Given the description of an element on the screen output the (x, y) to click on. 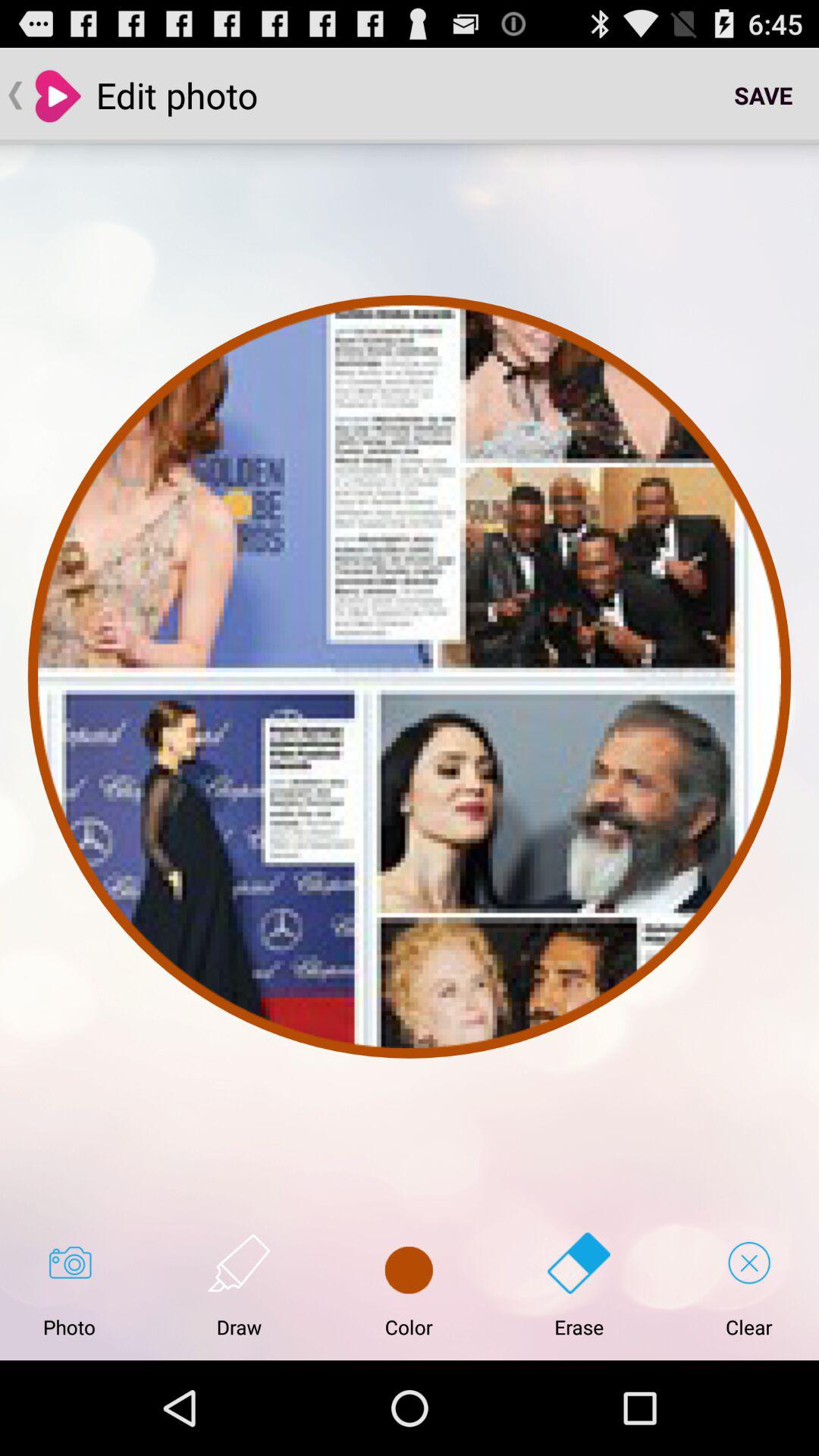
click the button next to photo button (238, 1285)
